Given the description of an element on the screen output the (x, y) to click on. 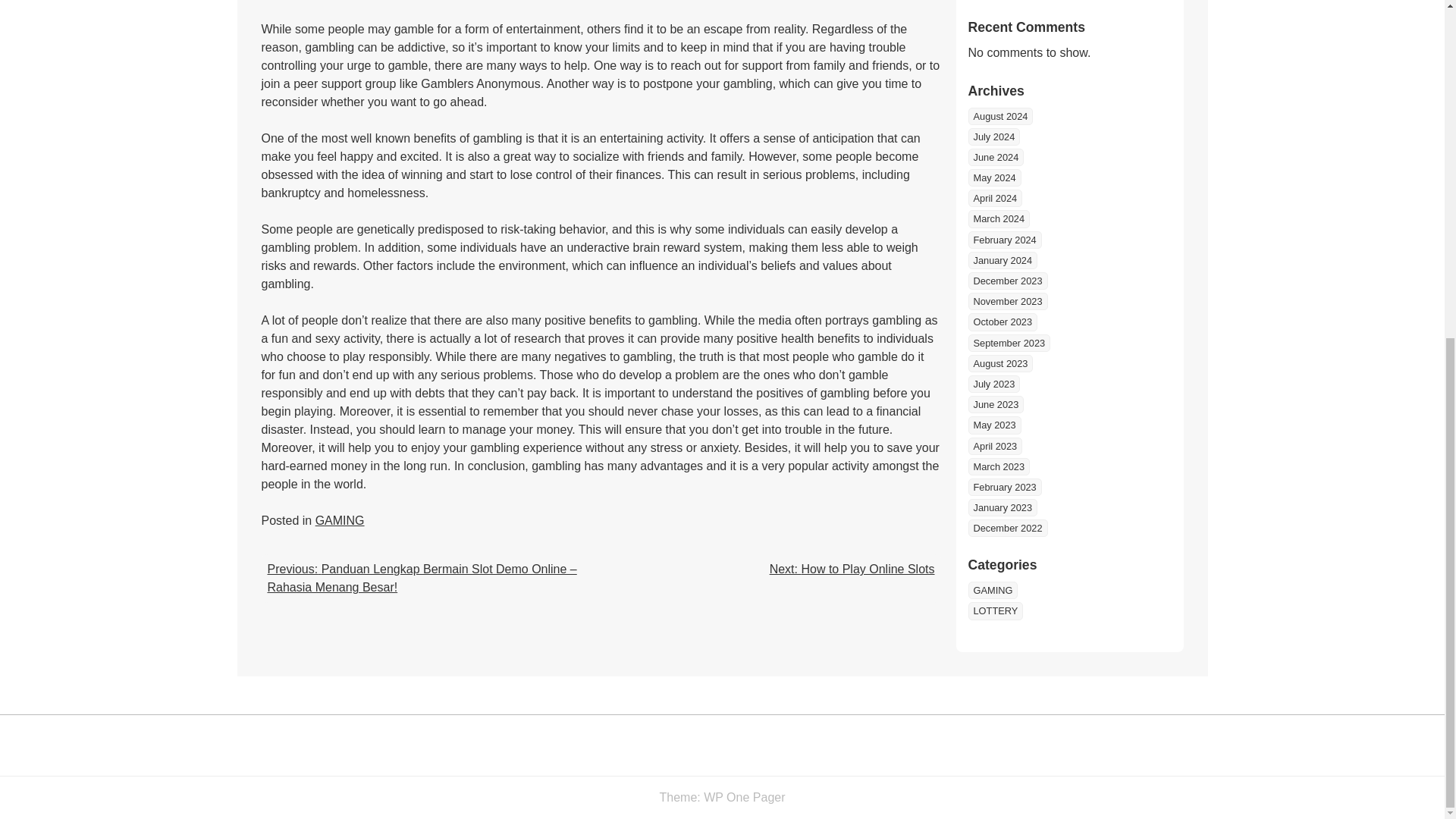
July 2023 (994, 384)
WP One Pager (743, 797)
LOTTERY (995, 610)
January 2023 (1002, 507)
August 2023 (1000, 363)
April 2023 (995, 446)
Next: How to Play Online Slots (852, 568)
November 2023 (1007, 301)
January 2024 (1002, 260)
October 2023 (1002, 321)
February 2024 (1004, 239)
March 2024 (998, 218)
May 2024 (994, 177)
February 2023 (1004, 487)
March 2023 (998, 466)
